Given the description of an element on the screen output the (x, y) to click on. 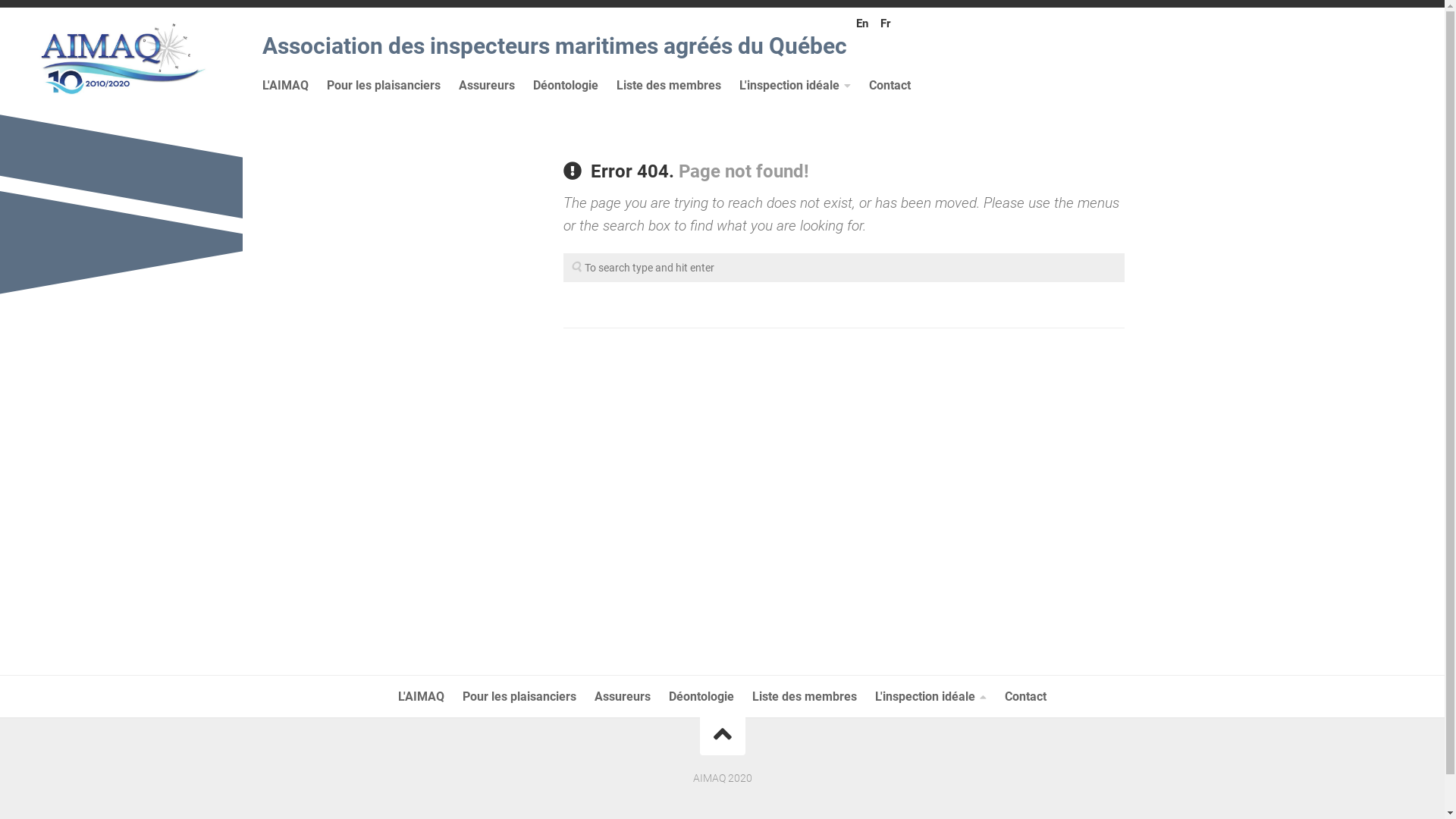
Pour les plaisanciers Element type: text (519, 695)
Contact Element type: text (889, 84)
Pour les plaisanciers Element type: text (383, 84)
Assureurs Element type: text (486, 84)
Liste des membres Element type: text (804, 695)
L'AIMAQ Element type: text (285, 84)
En Element type: text (863, 23)
Contact Element type: text (1025, 695)
Liste des membres Element type: text (668, 84)
Assureurs Element type: text (622, 695)
L'AIMAQ Element type: text (421, 695)
